Given the description of an element on the screen output the (x, y) to click on. 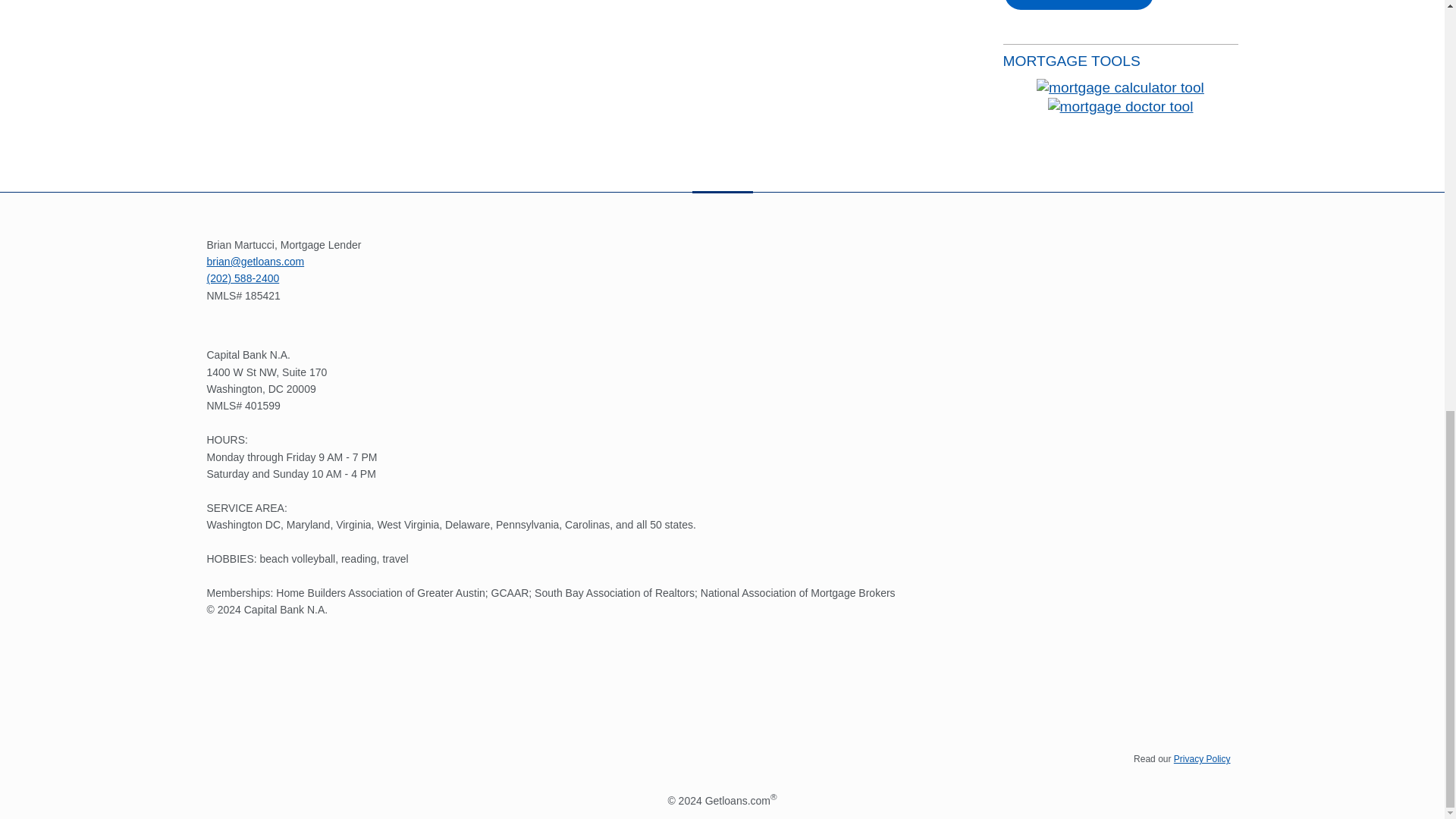
Search (1078, 5)
